Given the description of an element on the screen output the (x, y) to click on. 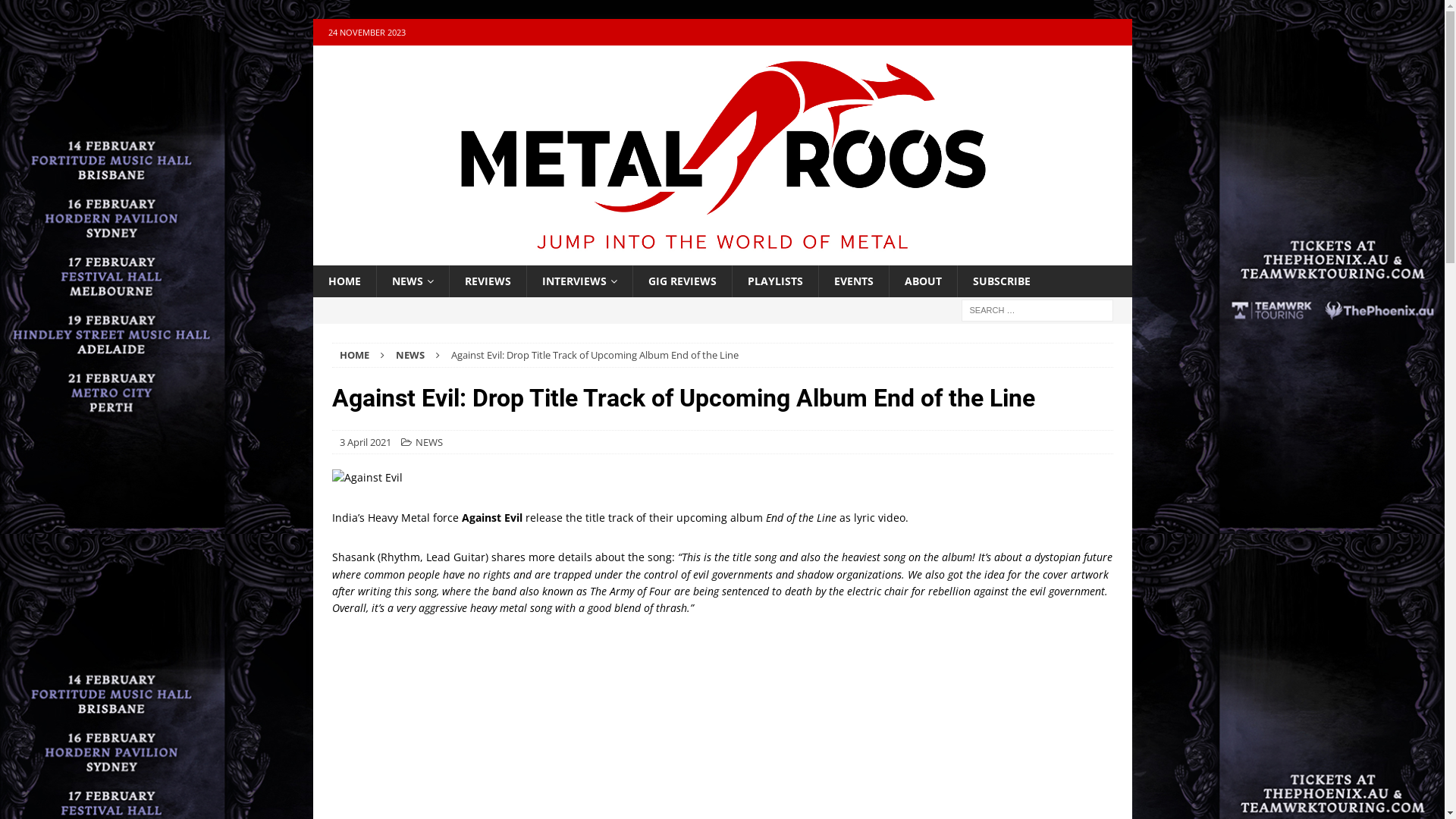
NEWS Element type: text (412, 281)
3 April 2021 Element type: text (365, 441)
Search Element type: text (56, 11)
NEWS Element type: text (409, 354)
06 (Photo Credit - Into the Lens) Element type: hover (722, 477)
REVIEWS Element type: text (487, 281)
SUBSCRIBE Element type: text (1001, 281)
NEWS Element type: text (428, 441)
ABOUT Element type: text (922, 281)
HOME Element type: text (354, 354)
INTERVIEWS Element type: text (579, 281)
PLAYLISTS Element type: text (774, 281)
GIG REVIEWS Element type: text (681, 281)
Metal-Roos Element type: hover (721, 255)
Search Element type: text (390, 11)
EVENTS Element type: text (852, 281)
HOME Element type: text (343, 281)
